Given the description of an element on the screen output the (x, y) to click on. 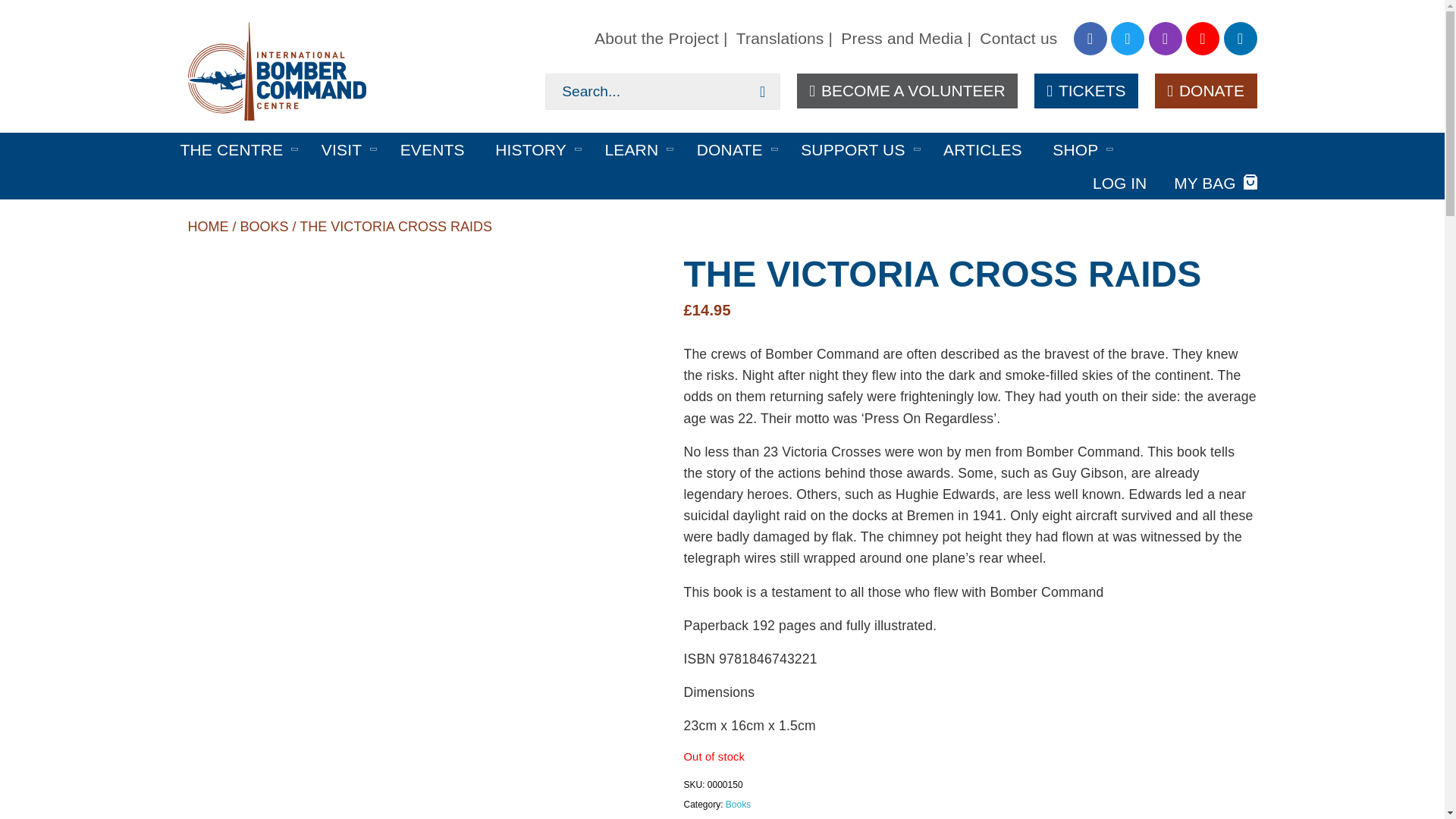
IBCC on Twitter (1127, 38)
IBCC on Instagram (1164, 38)
Press and Media (906, 38)
IBCC on LinkedIn (1240, 38)
THE CENTRE (231, 149)
DONATE (1206, 91)
IBCC on Facebook (1090, 38)
BECOME A VOLUNTEER (907, 91)
Translations (783, 38)
VISIT (341, 149)
